Given the description of an element on the screen output the (x, y) to click on. 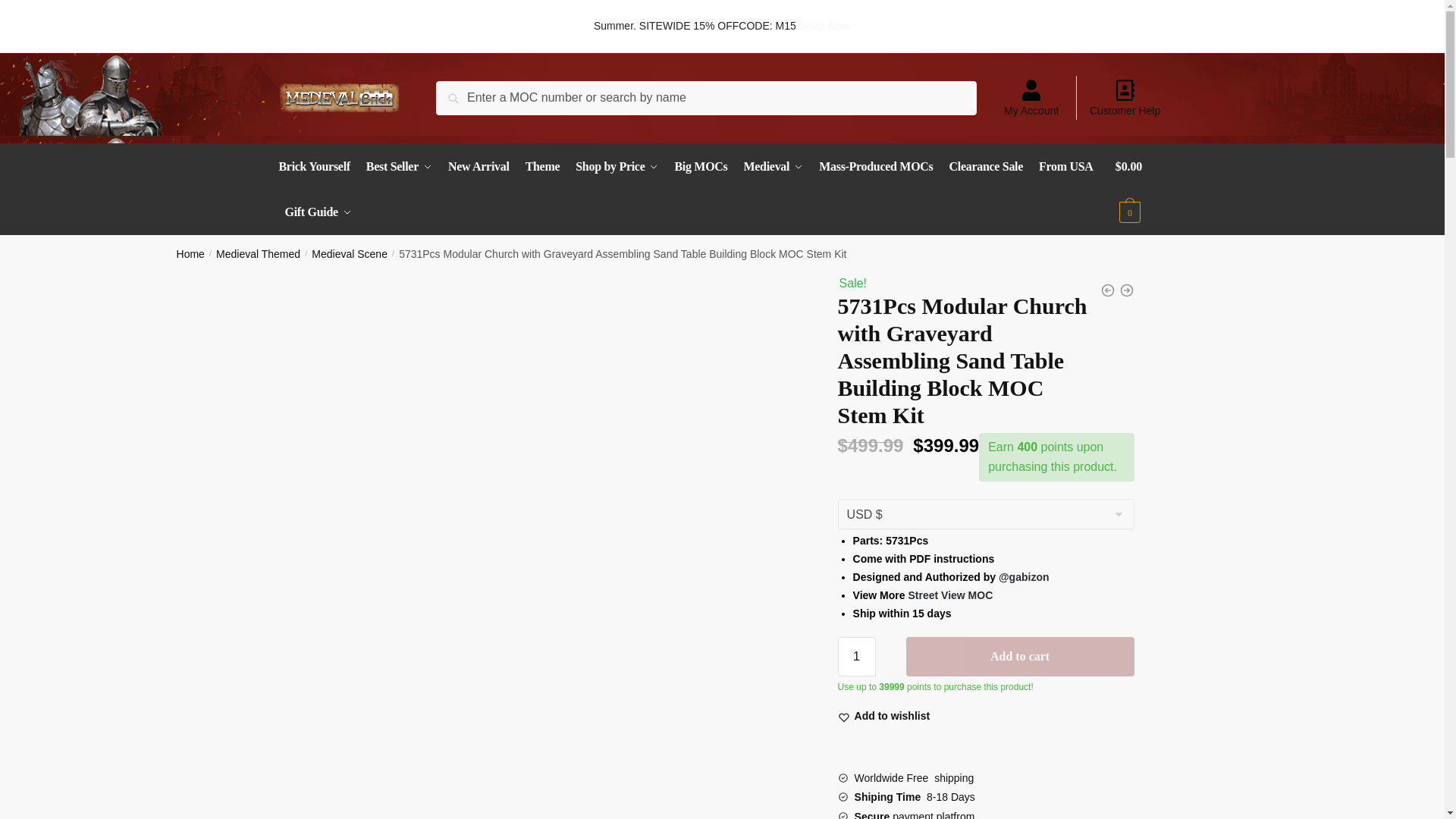
Best Seller (398, 166)
Theme (542, 166)
Brick Yourself (317, 166)
Mass-Produced MOCs (875, 166)
Shop by Price (616, 166)
Big MOCs (700, 166)
Clearance Sale (986, 166)
Shop Now (824, 25)
1 (857, 656)
Search (473, 98)
